Given the description of an element on the screen output the (x, y) to click on. 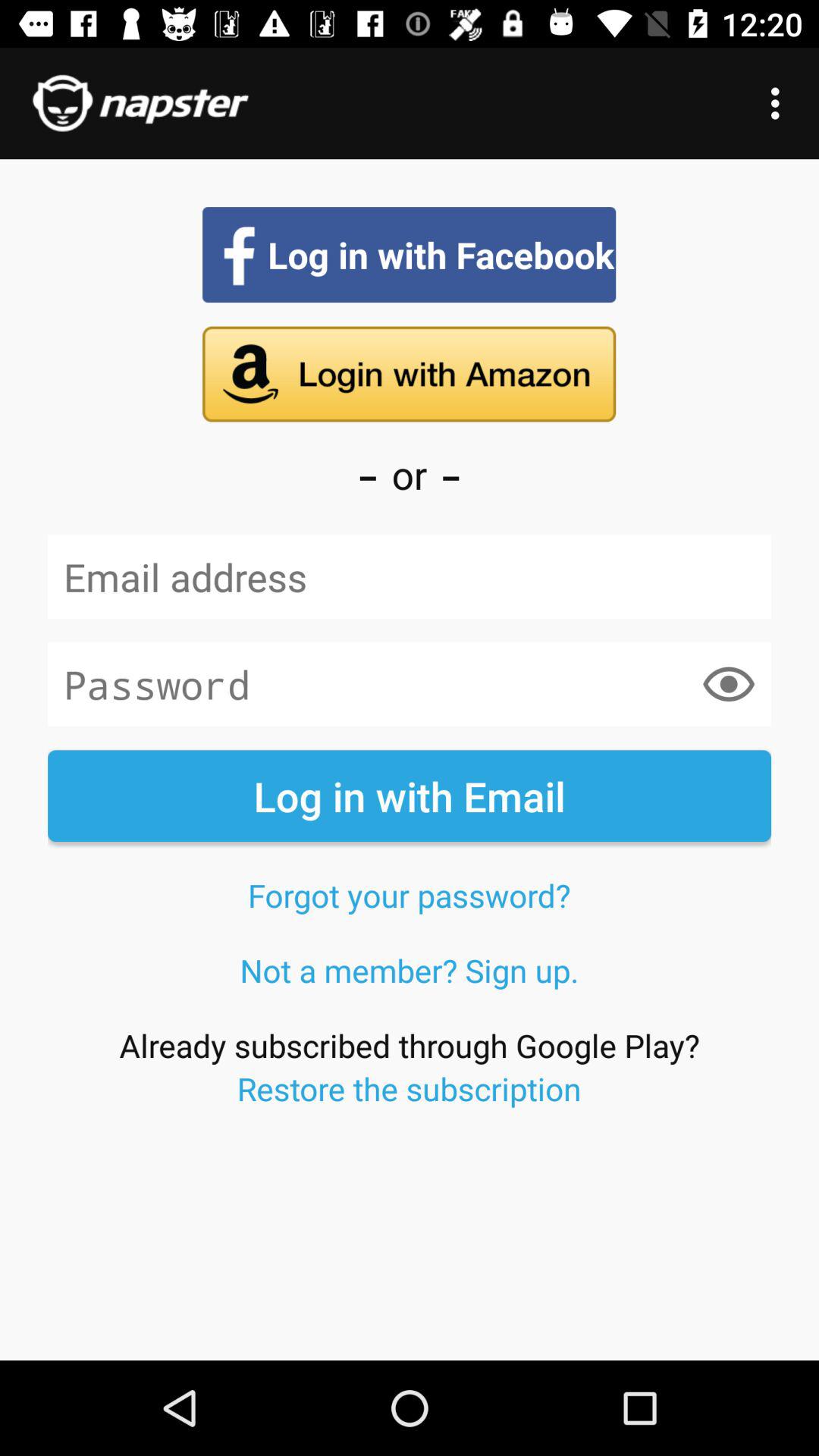
turn off the icon below forgot your password? (409, 969)
